Given the description of an element on the screen output the (x, y) to click on. 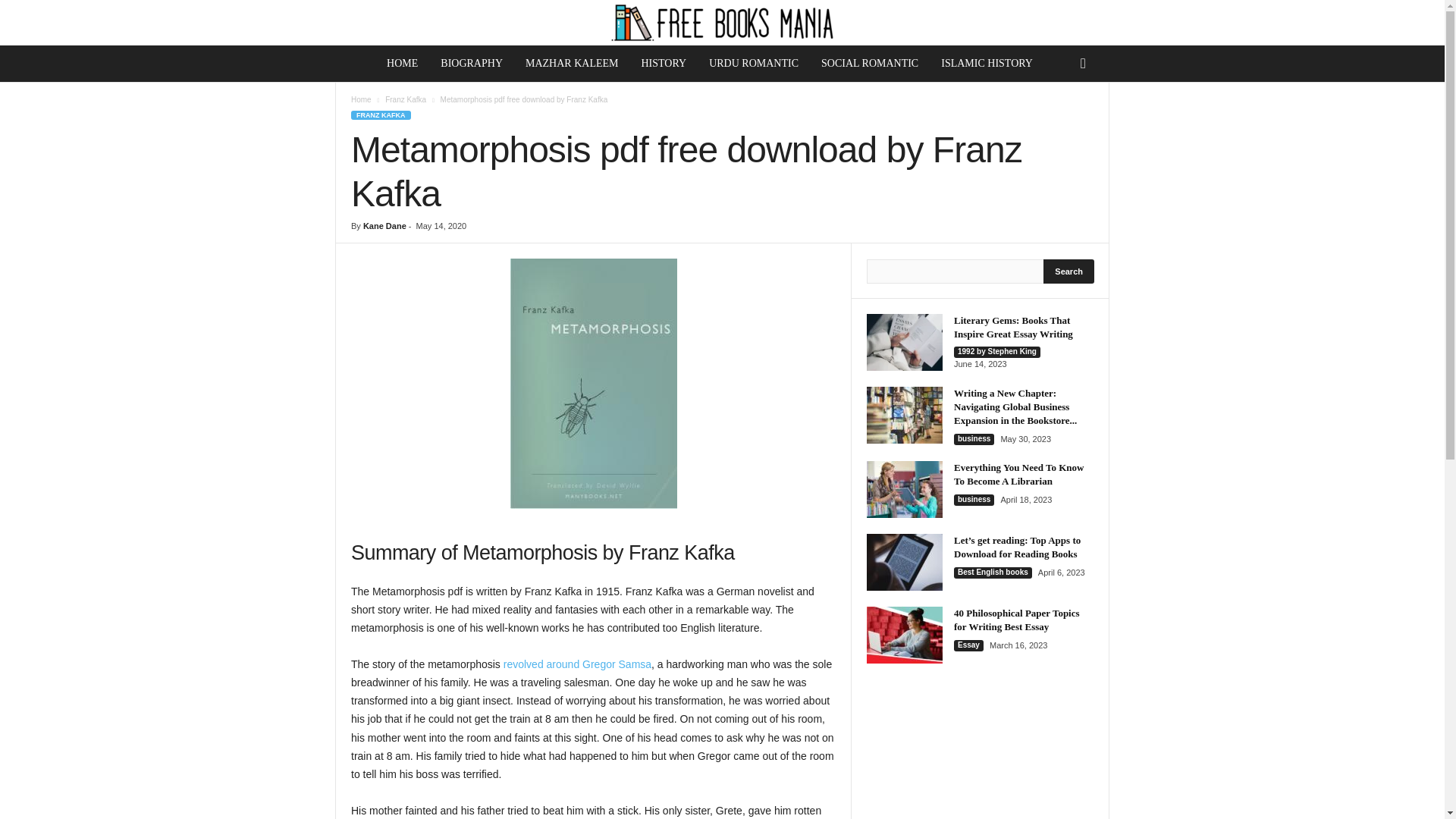
URDU ROMANTIC (753, 63)
Franz Kafka (405, 99)
ISLAMIC HISTORY (986, 63)
BIOGRAPHY (471, 63)
business (973, 439)
Everything You Need To Know To Become A Librarian (1018, 473)
Search (1068, 271)
HOME (402, 63)
revolved around Gregor Samsa (576, 664)
